Given the description of an element on the screen output the (x, y) to click on. 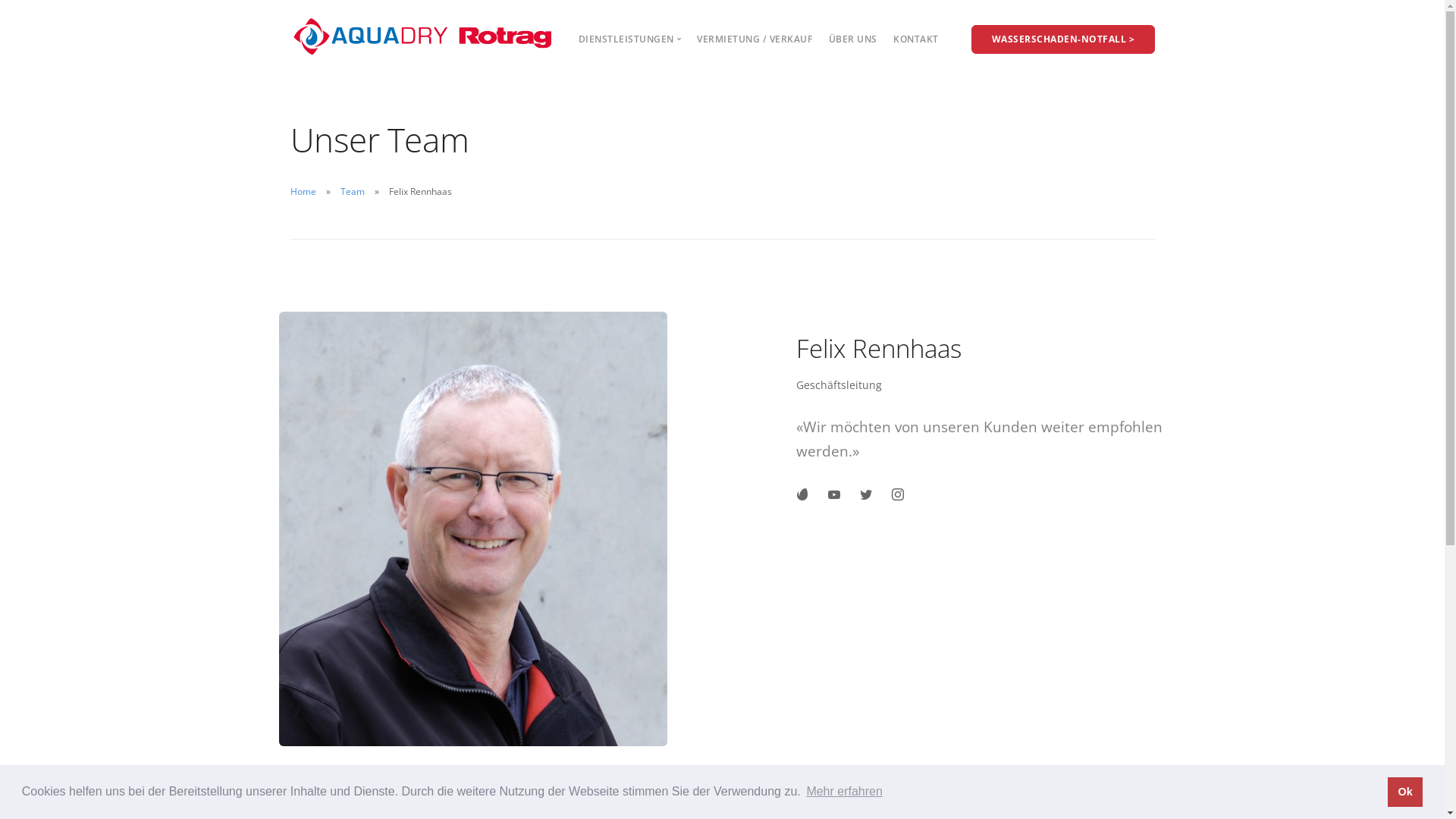
Mehr erfahren Element type: text (843, 791)
WASSERSCHADEN-NOTFALL > Element type: text (1062, 39)
Ok Element type: text (1404, 791)
KONTAKT Element type: text (915, 38)
Home Element type: text (302, 191)
VERMIETUNG / VERKAUF Element type: text (754, 38)
DIENSTLEISTUNGEN Element type: text (629, 38)
Team Element type: text (351, 191)
